Given the description of an element on the screen output the (x, y) to click on. 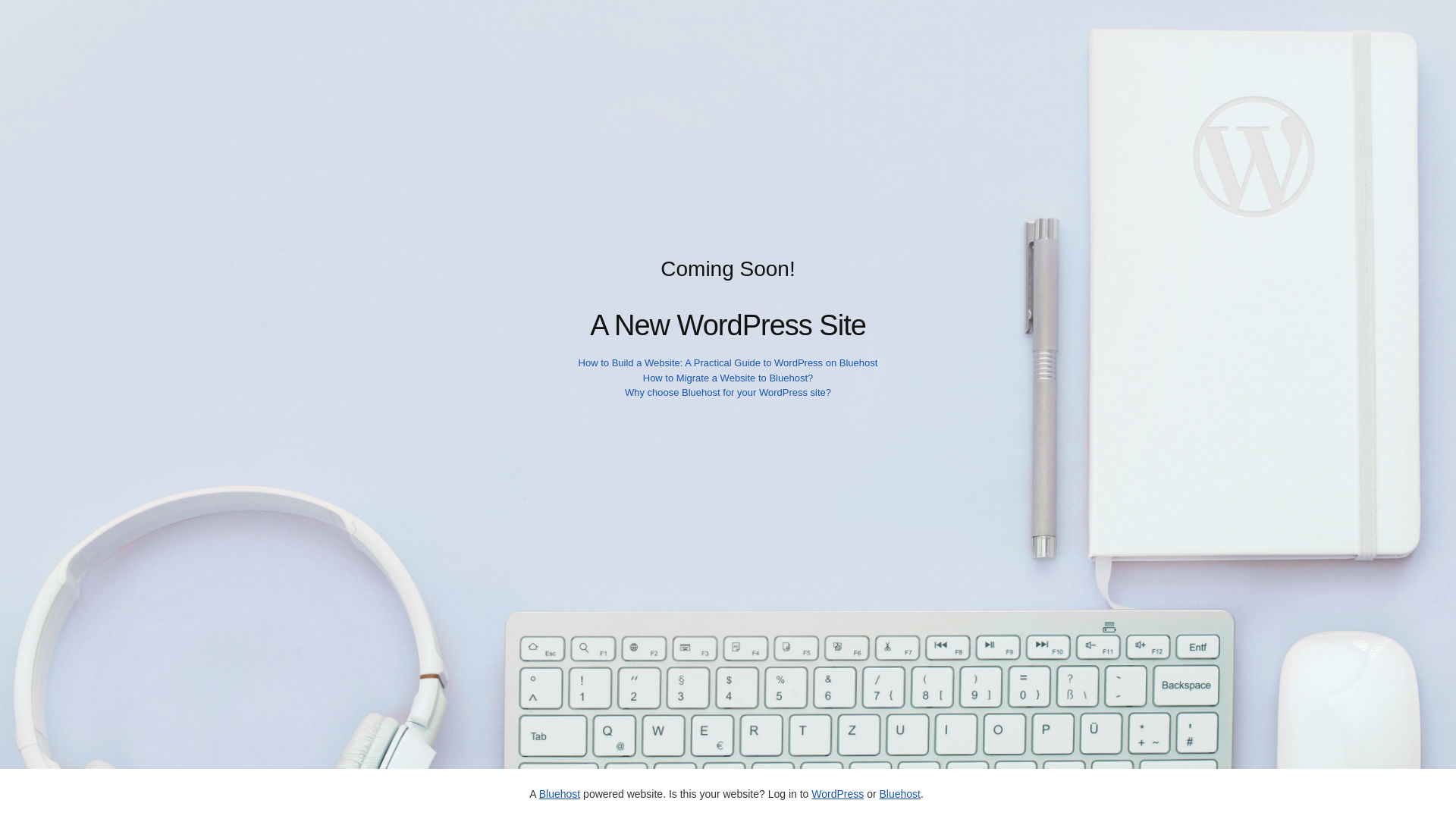
Bluehost (558, 793)
Bluehost (899, 793)
Why choose Bluehost for your WordPress site? (727, 392)
How to Migrate a Website to Bluehost? (728, 378)
WordPress (836, 793)
